Given the description of an element on the screen output the (x, y) to click on. 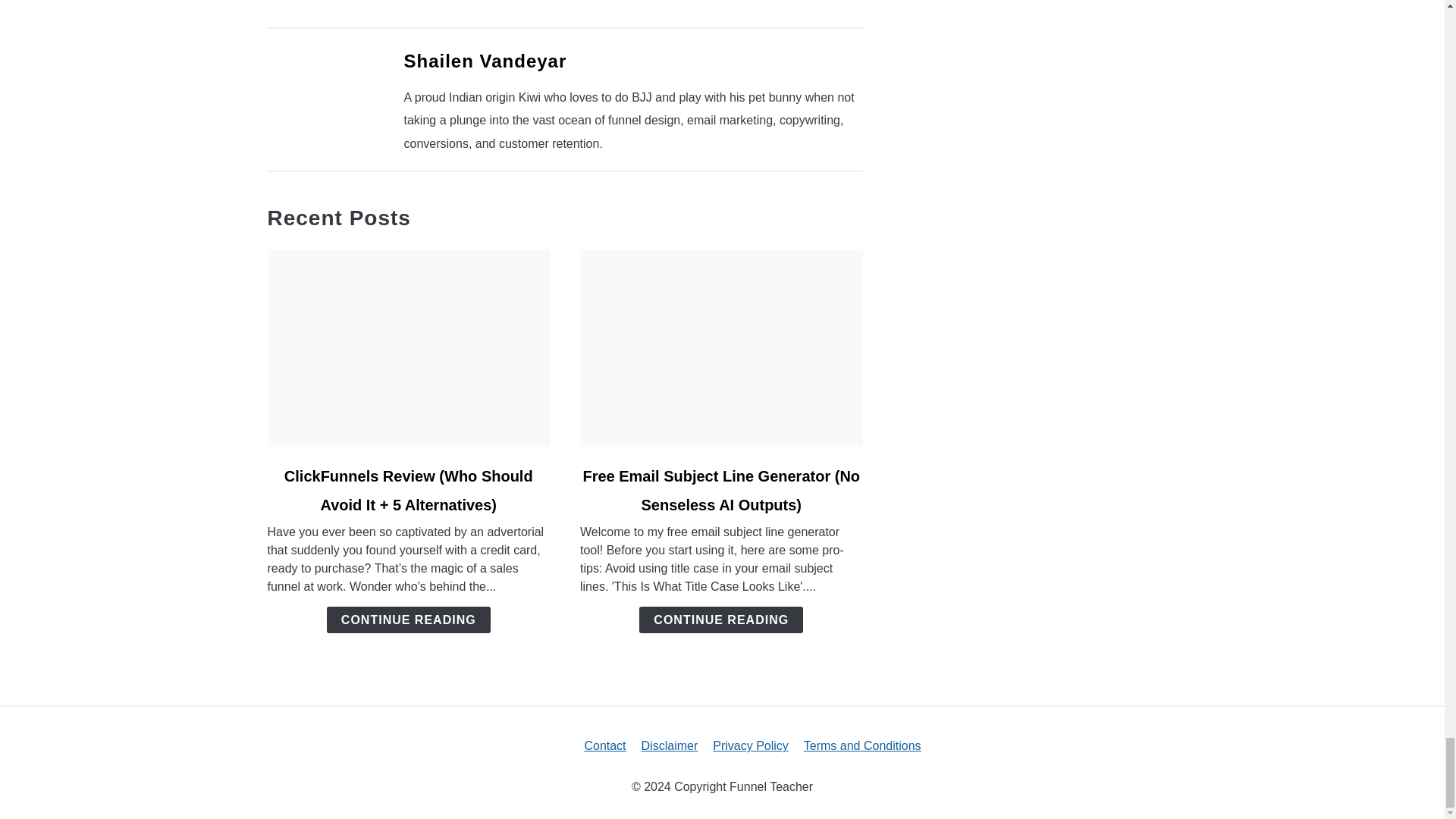
CONTINUE READING (721, 619)
Terms and Conditions (862, 745)
Disclaimer (670, 745)
Shailen Vandeyar (484, 60)
Contact (604, 745)
CONTINUE READING (408, 619)
Privacy Policy (751, 745)
